Given the description of an element on the screen output the (x, y) to click on. 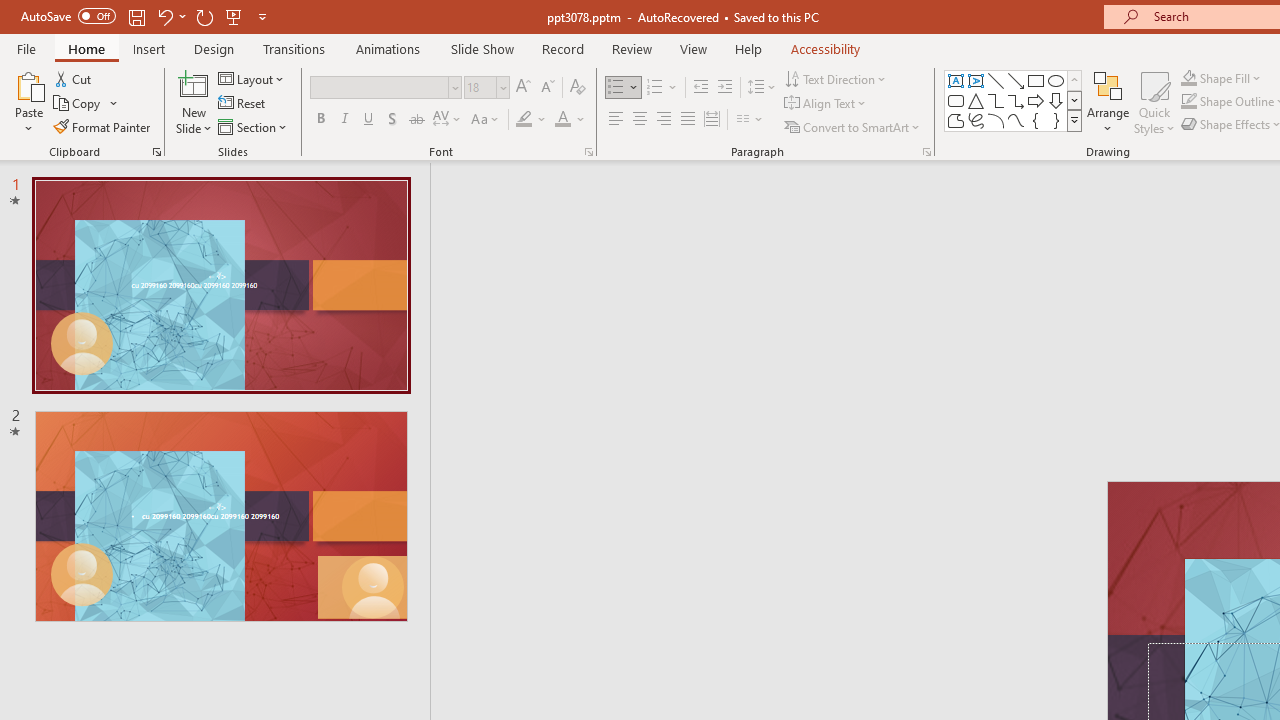
Quick Styles (1154, 102)
Center (639, 119)
Distributed (712, 119)
Change Case (486, 119)
Line Arrow (1016, 80)
Underline (369, 119)
Oval (1055, 80)
AutomationID: ShapesInsertGallery (1014, 100)
